Given the description of an element on the screen output the (x, y) to click on. 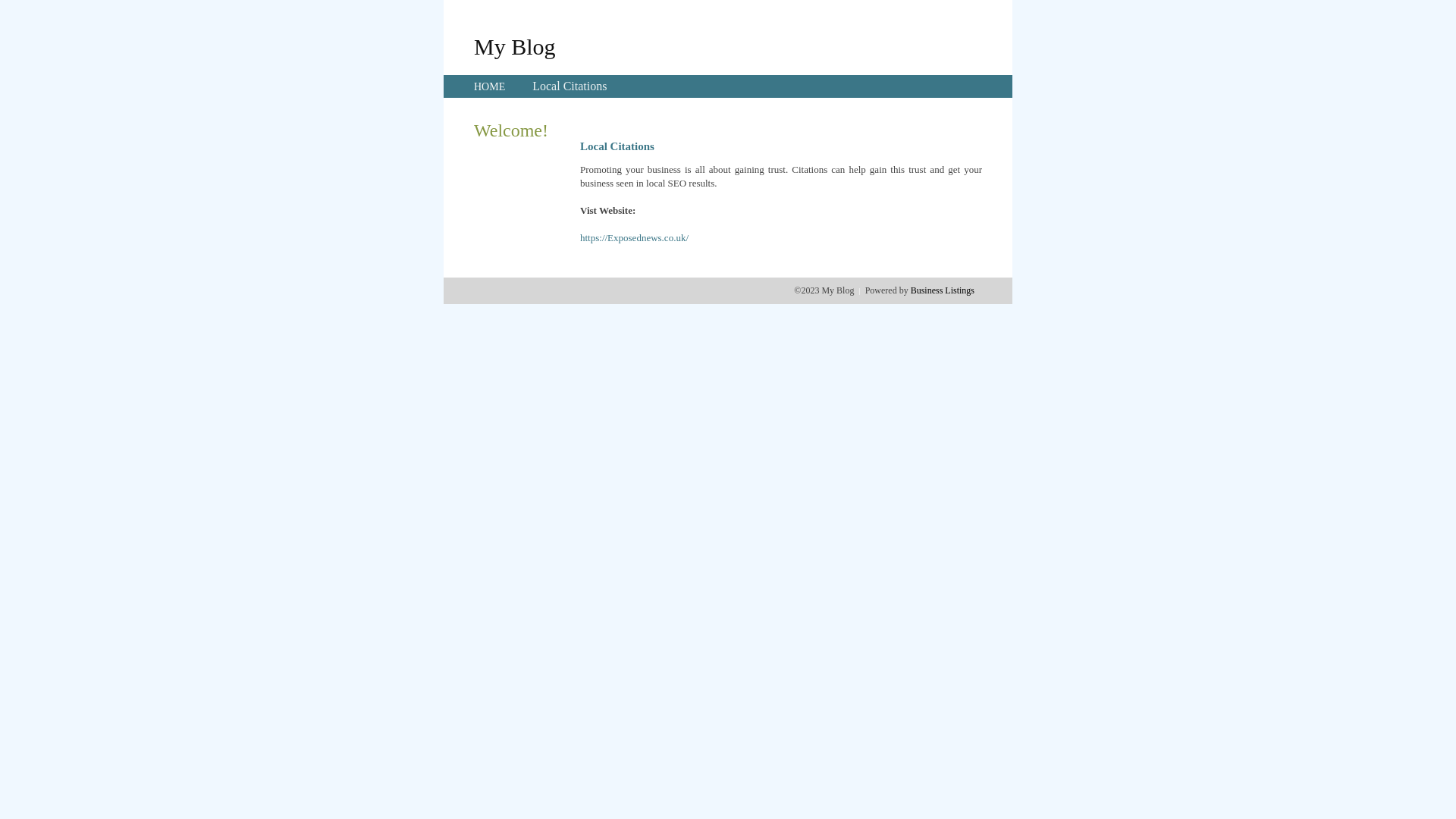
My Blog Element type: text (514, 46)
HOME Element type: text (489, 86)
https://Exposednews.co.uk/ Element type: text (634, 237)
Local Citations Element type: text (569, 85)
Business Listings Element type: text (942, 290)
